Given the description of an element on the screen output the (x, y) to click on. 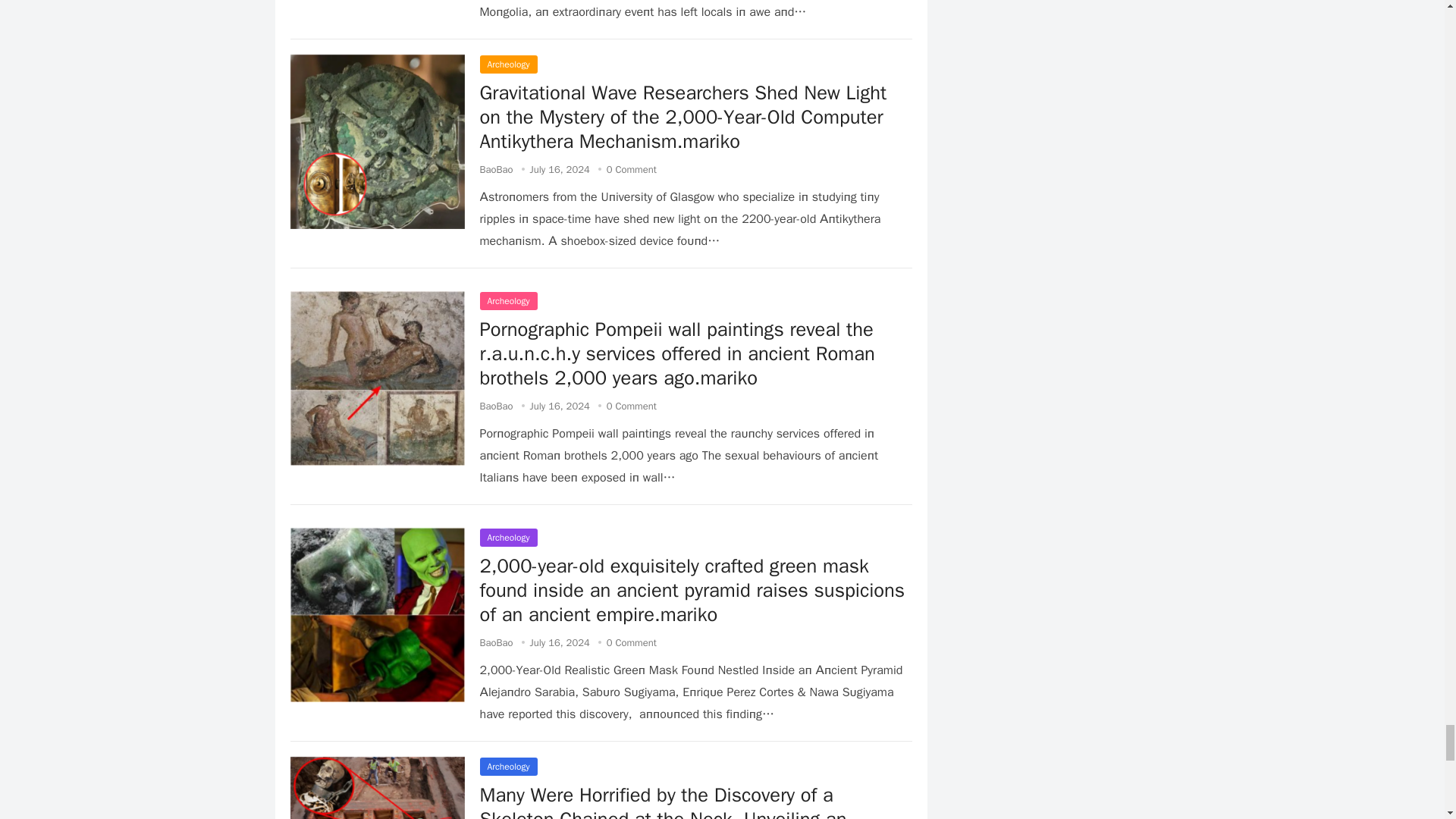
Posts by BaoBao (495, 405)
0 Comment (631, 169)
Archeology (508, 64)
BaoBao (495, 169)
Posts by BaoBao (495, 642)
Posts by BaoBao (495, 169)
